Given the description of an element on the screen output the (x, y) to click on. 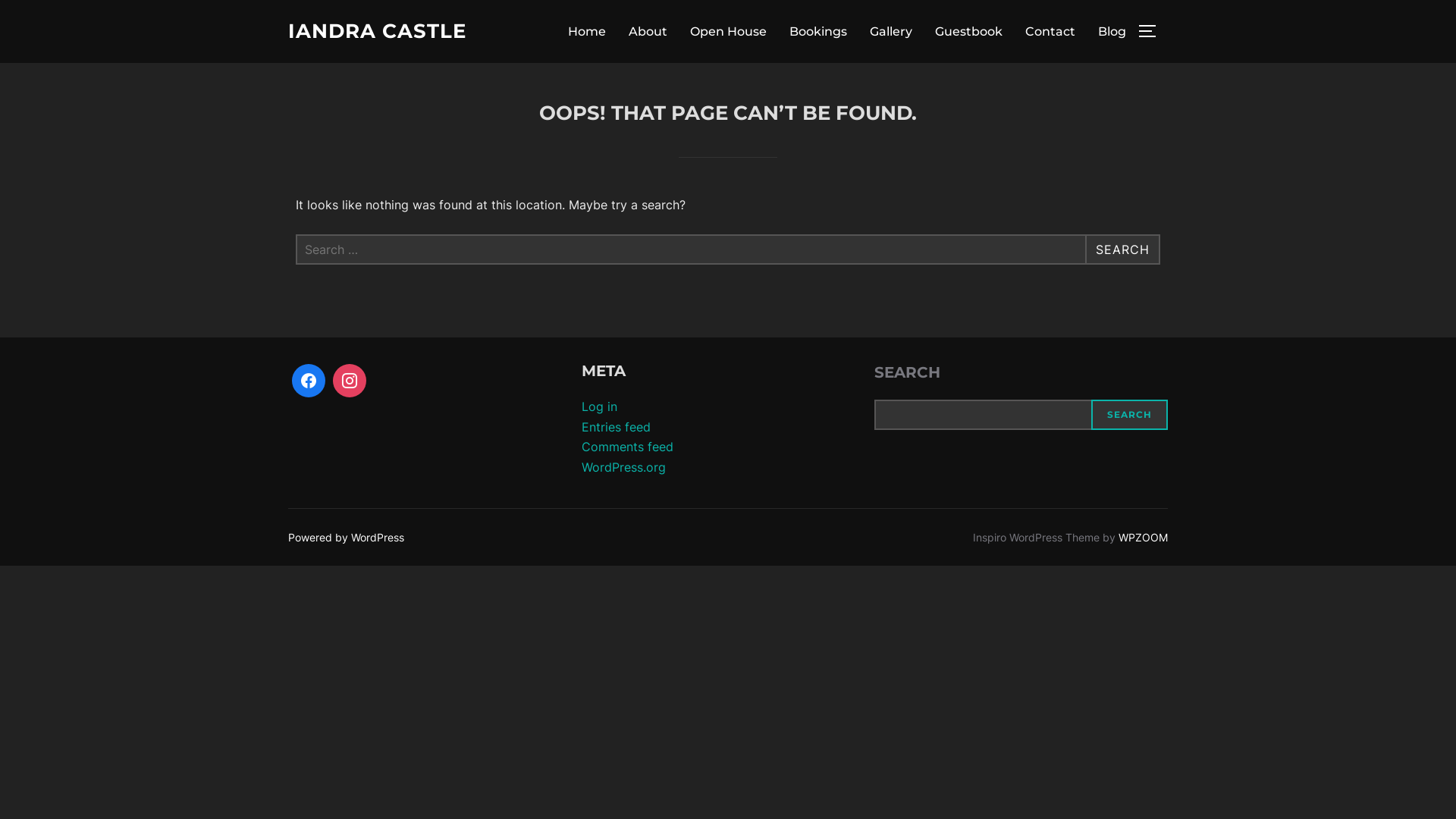
About Element type: text (647, 30)
Open House Element type: text (728, 30)
Entries feed Element type: text (615, 426)
IANDRA CASTLE Element type: text (377, 31)
WPZOOM Element type: text (1142, 536)
Instagram Element type: hover (349, 380)
Home Element type: text (586, 30)
Gallery Element type: text (890, 30)
Facebook Element type: hover (308, 380)
Comments feed Element type: text (627, 446)
SEARCH Element type: text (1122, 249)
Guestbook Element type: text (968, 30)
Log in Element type: text (599, 406)
WordPress.org Element type: text (623, 466)
Blog Element type: text (1112, 30)
Powered by WordPress Element type: text (346, 536)
TOGGLE SIDEBAR & NAVIGATION Element type: text (1152, 30)
Contact Element type: text (1050, 30)
Bookings Element type: text (818, 30)
SEARCH Element type: text (1129, 414)
